Given the description of an element on the screen output the (x, y) to click on. 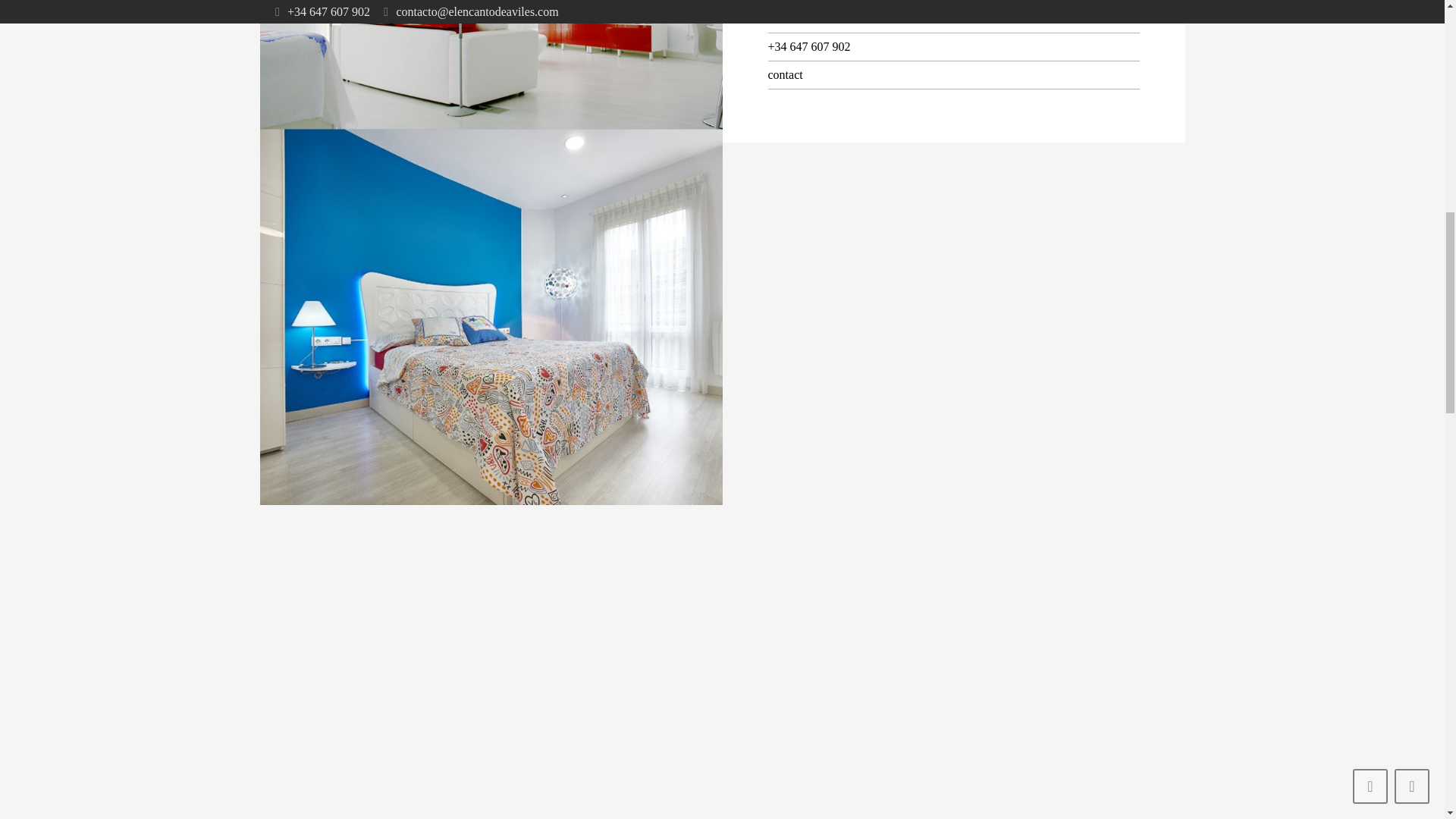
contact (784, 74)
